Given the description of an element on the screen output the (x, y) to click on. 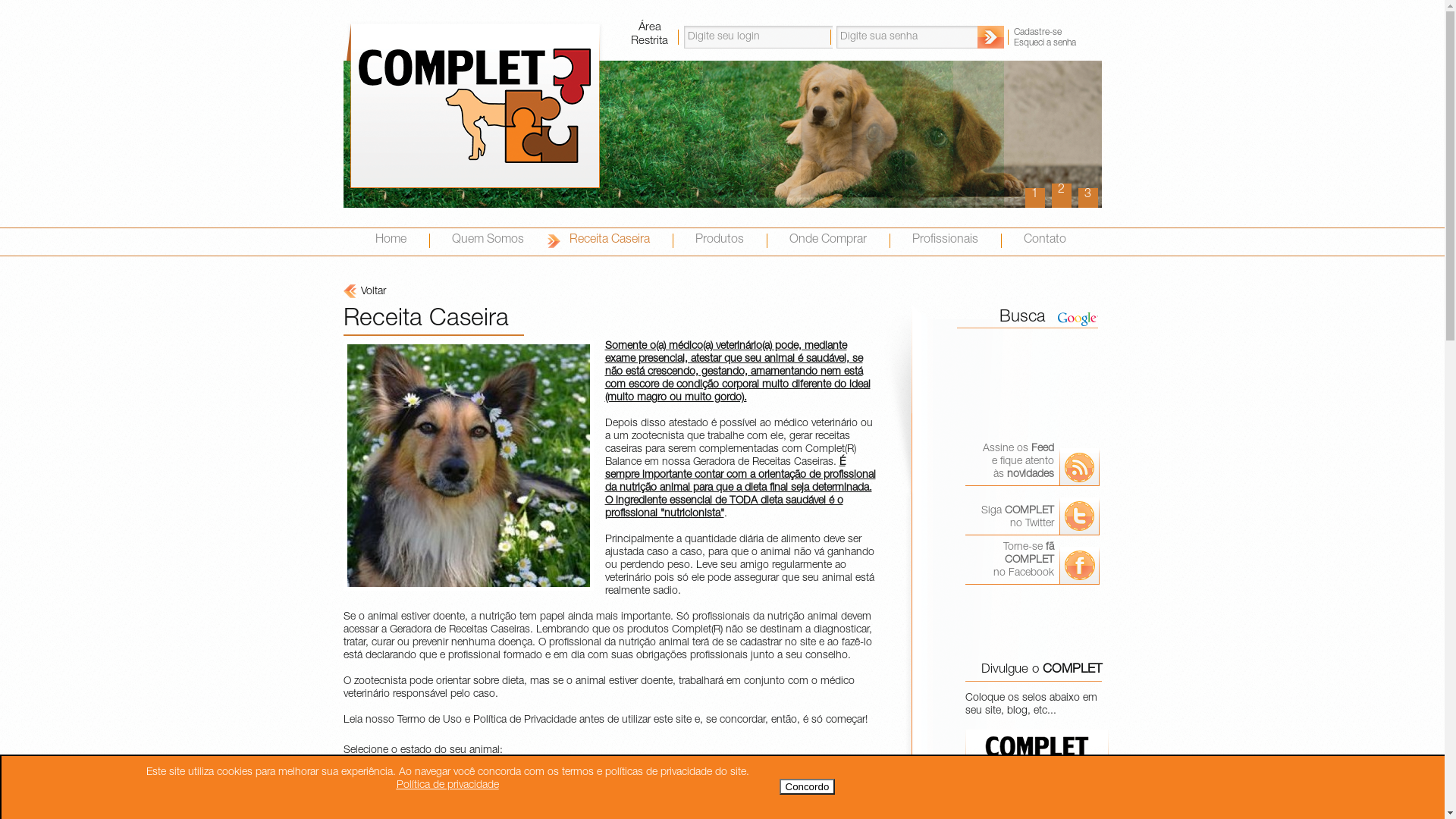
Onde Comprar Element type: text (826, 240)
Voltar Element type: text (351, 291)
Siga COMPLET
no Twitter Element type: text (1032, 512)
Esqueci a senha Element type: text (1057, 42)
3 Element type: text (1088, 197)
Next Element type: text (1077, 200)
2 Element type: text (1060, 197)
Contato Element type: text (1067, 240)
Prev Element type: text (780, 200)
Concordo Element type: text (807, 786)
Complet Element type: hover (473, 107)
Quem Somos Element type: text (487, 240)
Receita Caseira Element type: text (608, 240)
Cadastre-se Element type: text (1057, 32)
Home Element type: text (389, 240)
Produtos Element type: text (718, 240)
1 Element type: text (1034, 195)
Profissionais Element type: text (944, 240)
